Given the description of an element on the screen output the (x, y) to click on. 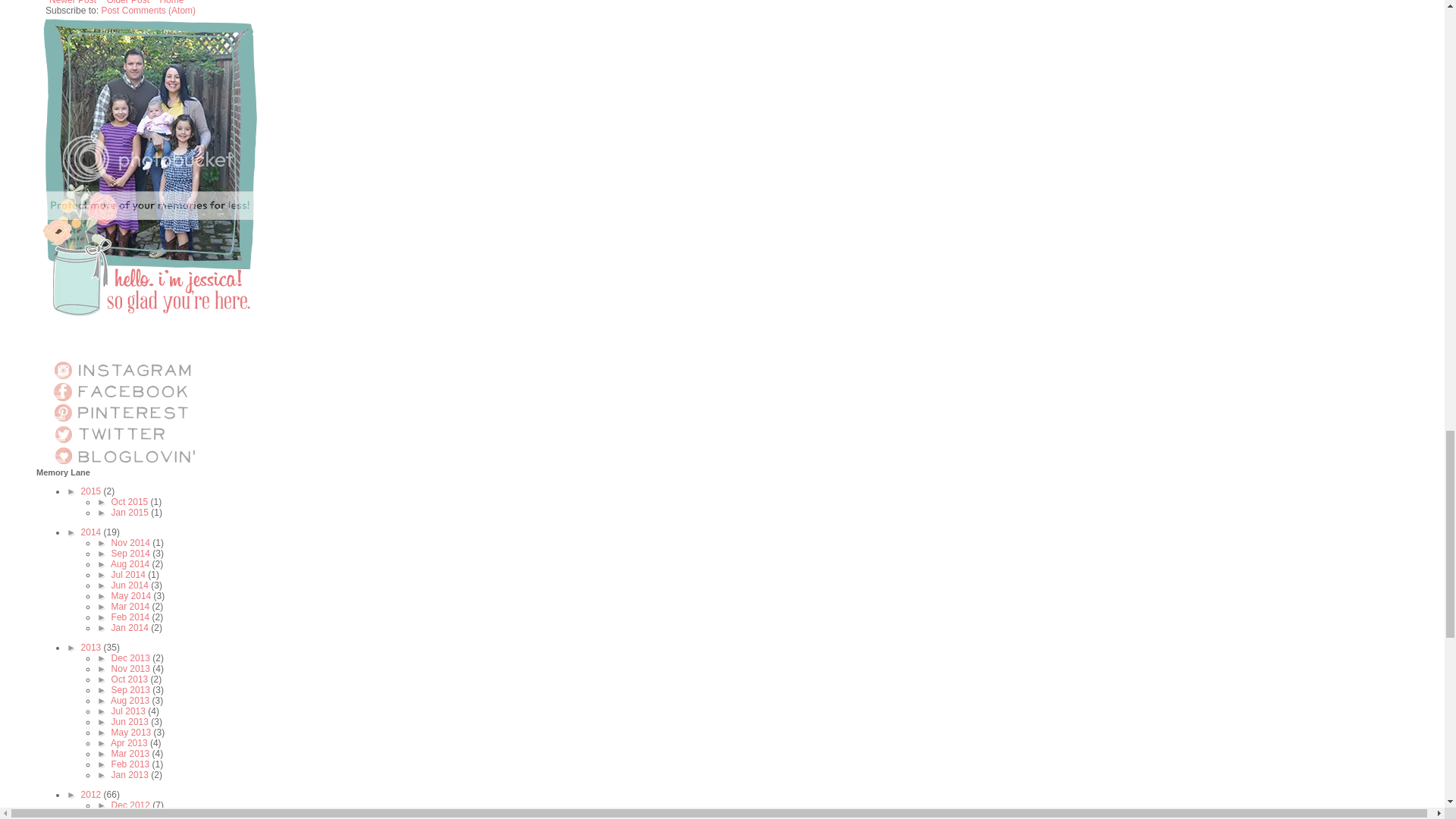
Newer Post (72, 4)
Home (171, 4)
Newer Post (72, 4)
Older Post (126, 4)
2015 (92, 491)
Older Post (126, 4)
